Given the description of an element on the screen output the (x, y) to click on. 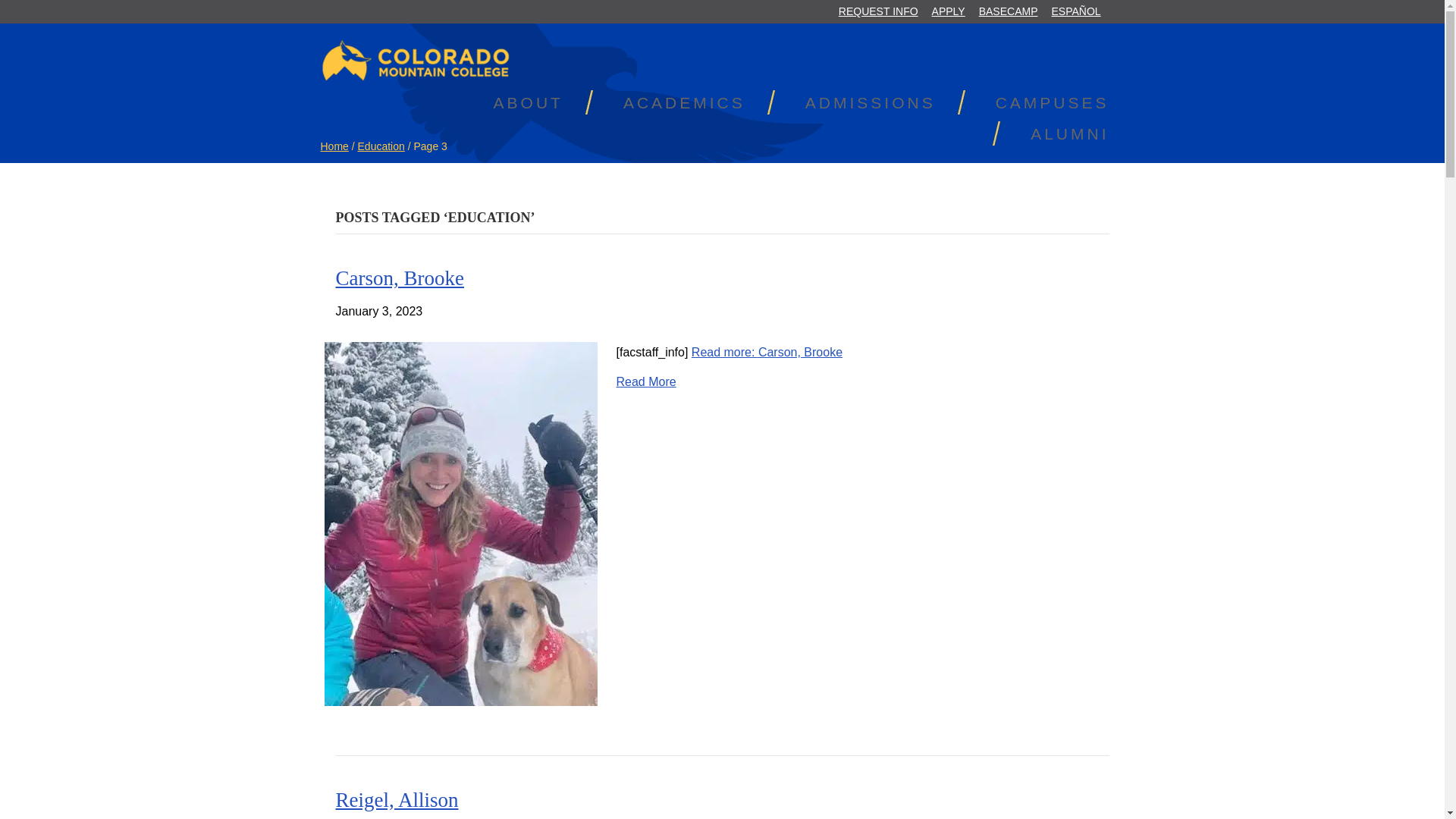
APPLY (948, 11)
Open site search (1116, 12)
BASECAMP (1008, 11)
REQUEST INFO (877, 11)
